Given the description of an element on the screen output the (x, y) to click on. 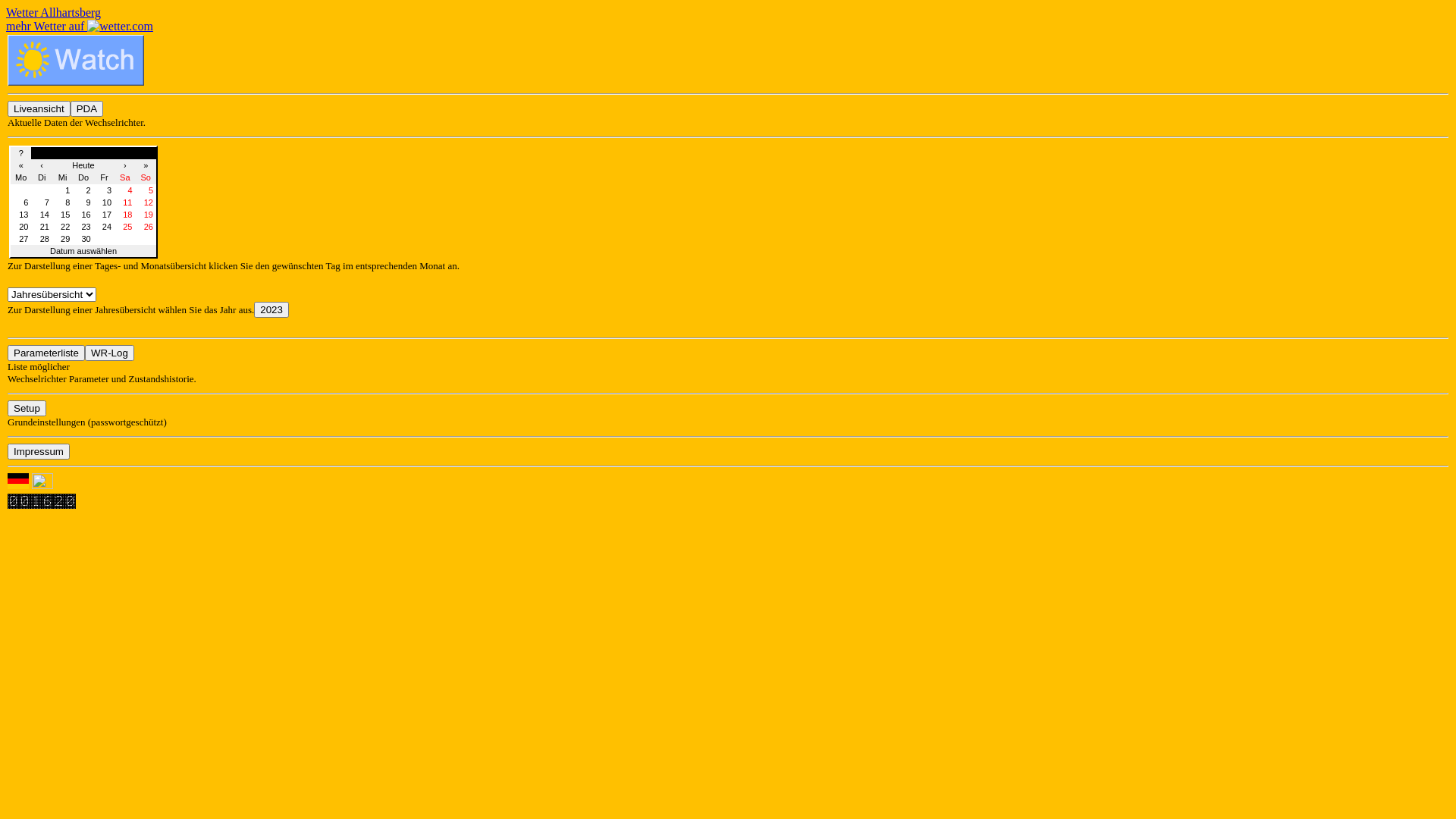
Wetter Allhartsberg Element type: text (53, 12)
Impressum Element type: text (38, 451)
Liveansicht Element type: text (38, 108)
WR-Log Element type: text (109, 352)
2023 Element type: text (271, 309)
Parameterliste Element type: text (45, 352)
wetter.com Element type: hover (120, 26)
Setup Element type: text (26, 408)
mehr Wetter auf Element type: text (79, 25)
PDA Element type: text (86, 108)
